Given the description of an element on the screen output the (x, y) to click on. 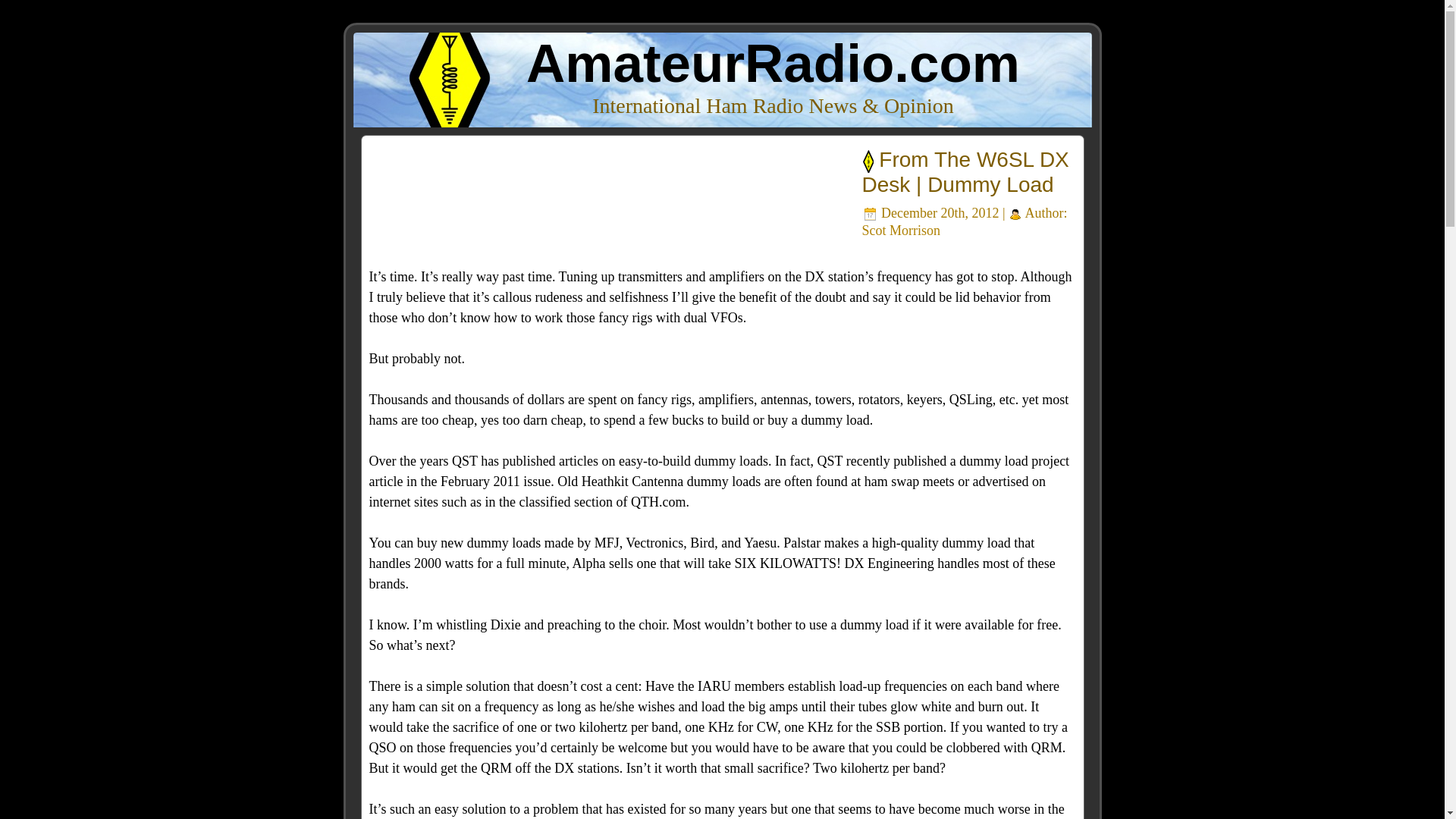
Posts by Scot Morrison (900, 230)
AmateurRadio.com (772, 63)
Scot Morrison (900, 230)
